Given the description of an element on the screen output the (x, y) to click on. 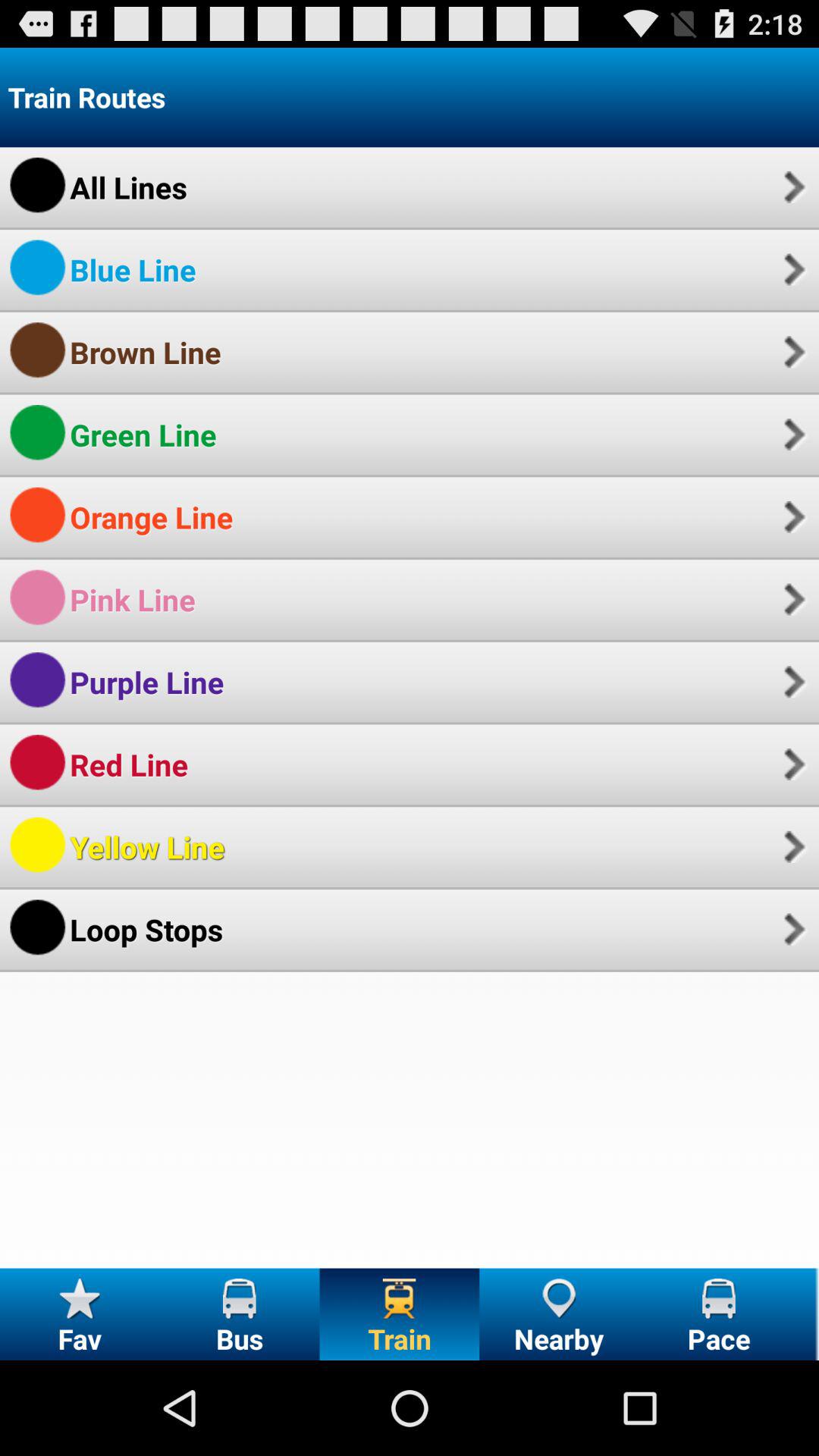
open the icon to the right of the orange line (792, 516)
